Given the description of an element on the screen output the (x, y) to click on. 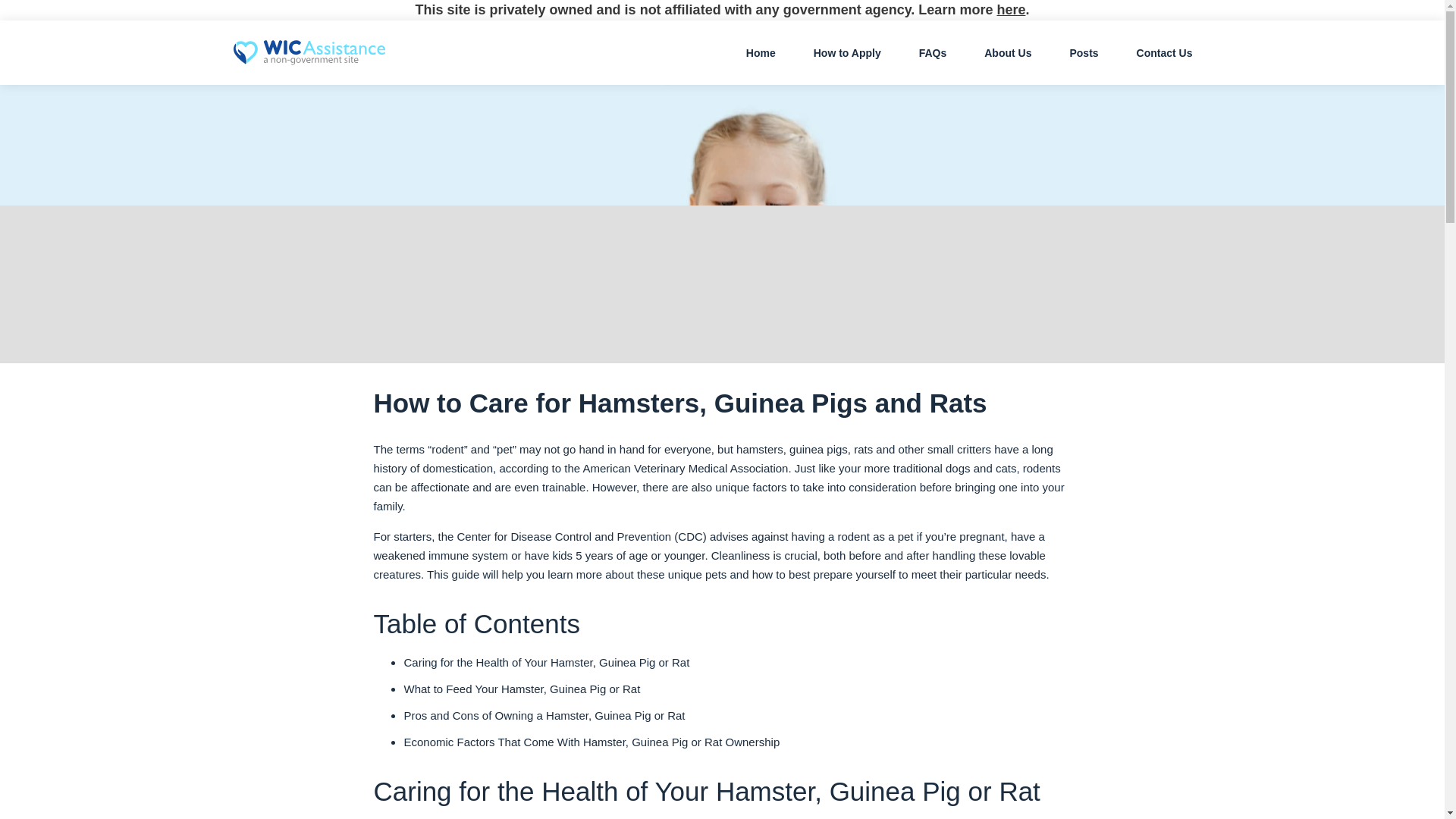
Contact Us (1164, 52)
Home (760, 52)
Posts (1083, 52)
FAQs (932, 52)
About Us (1007, 52)
here (1010, 9)
How to Apply (847, 52)
